Given the description of an element on the screen output the (x, y) to click on. 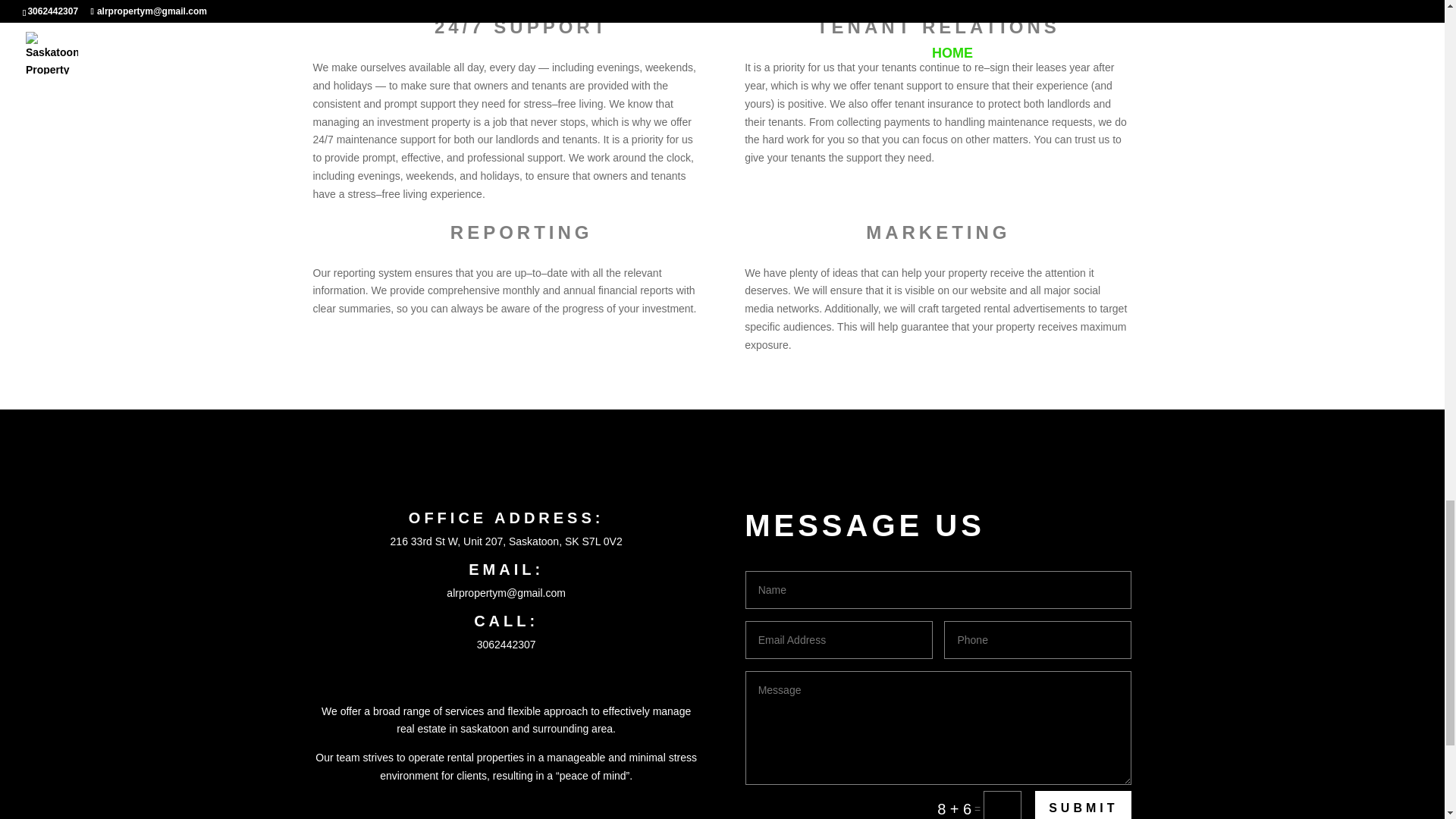
216 33rd St W, Unit 207, Saskatoon, SK S7L 0V2 (506, 541)
3062442307 (506, 644)
SUBMIT (1083, 805)
